Given the description of an element on the screen output the (x, y) to click on. 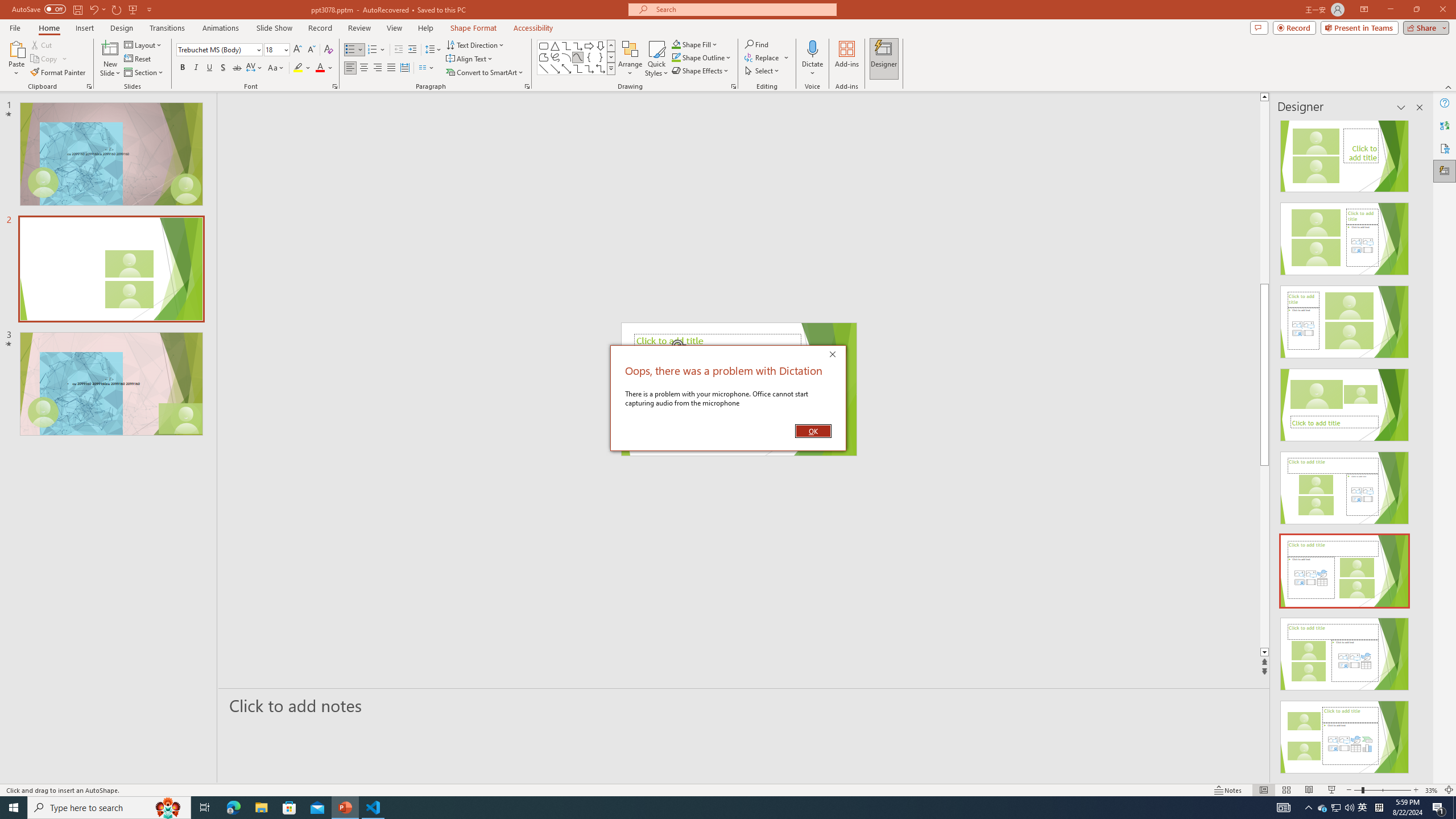
IME Mode Icon - IME is disabled (1362, 807)
